Given the description of an element on the screen output the (x, y) to click on. 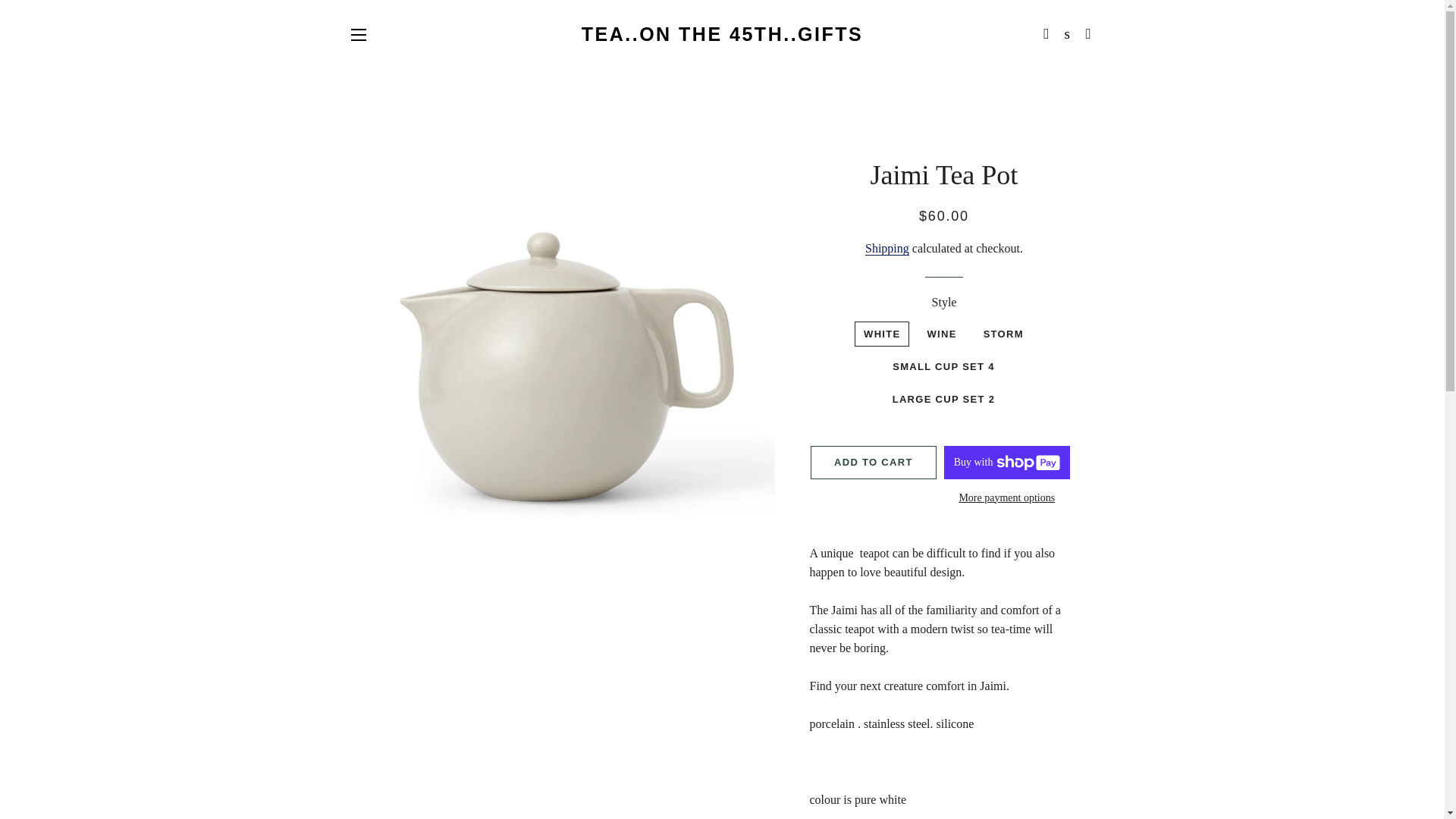
Shipping (886, 248)
ADD TO CART (873, 462)
TEA..ON THE 45TH..GIFTS (721, 34)
SITE NAVIGATION (358, 34)
More payment options (1006, 497)
